Given the description of an element on the screen output the (x, y) to click on. 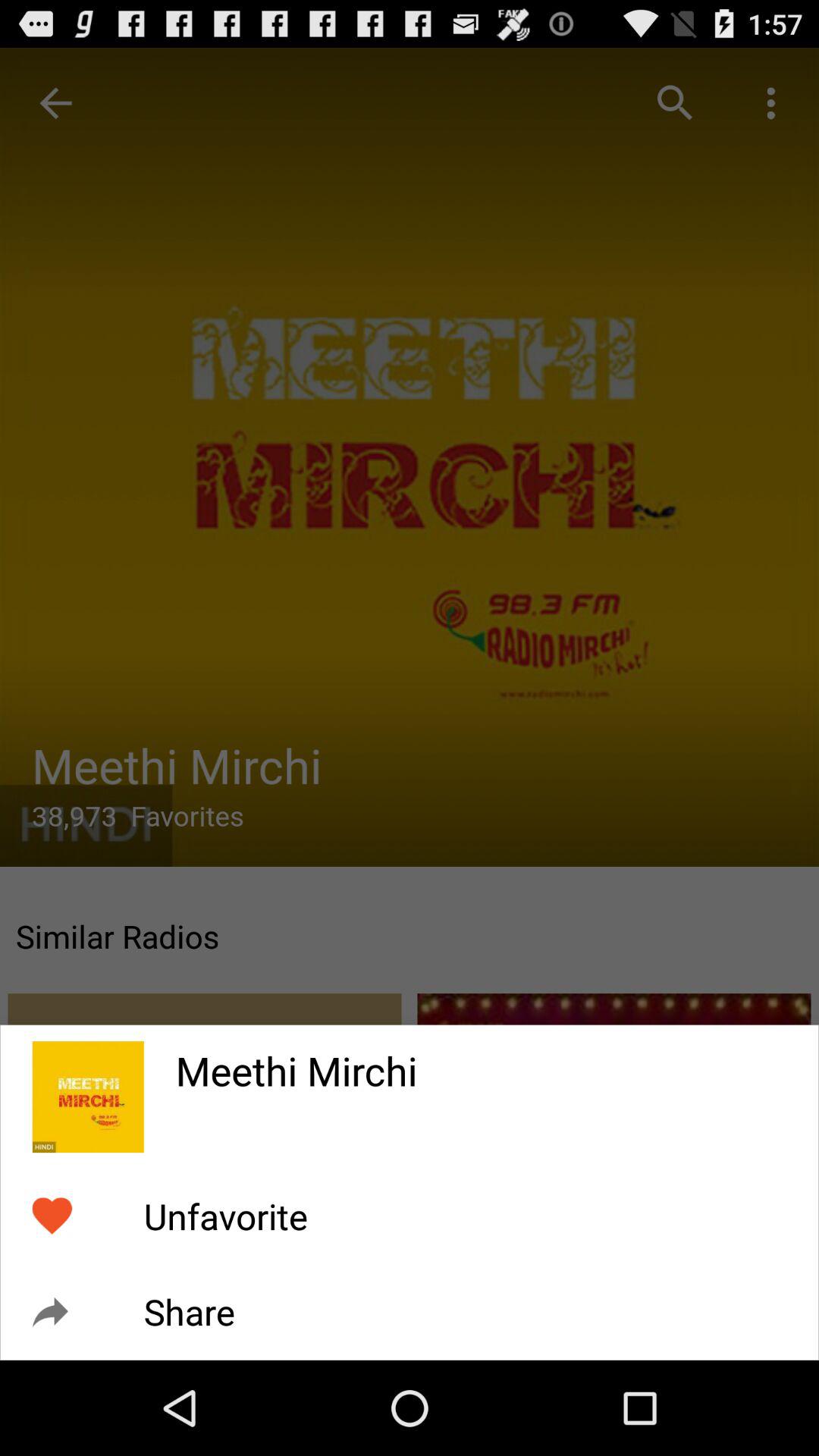
click the icon above the share icon (225, 1216)
